Given the description of an element on the screen output the (x, y) to click on. 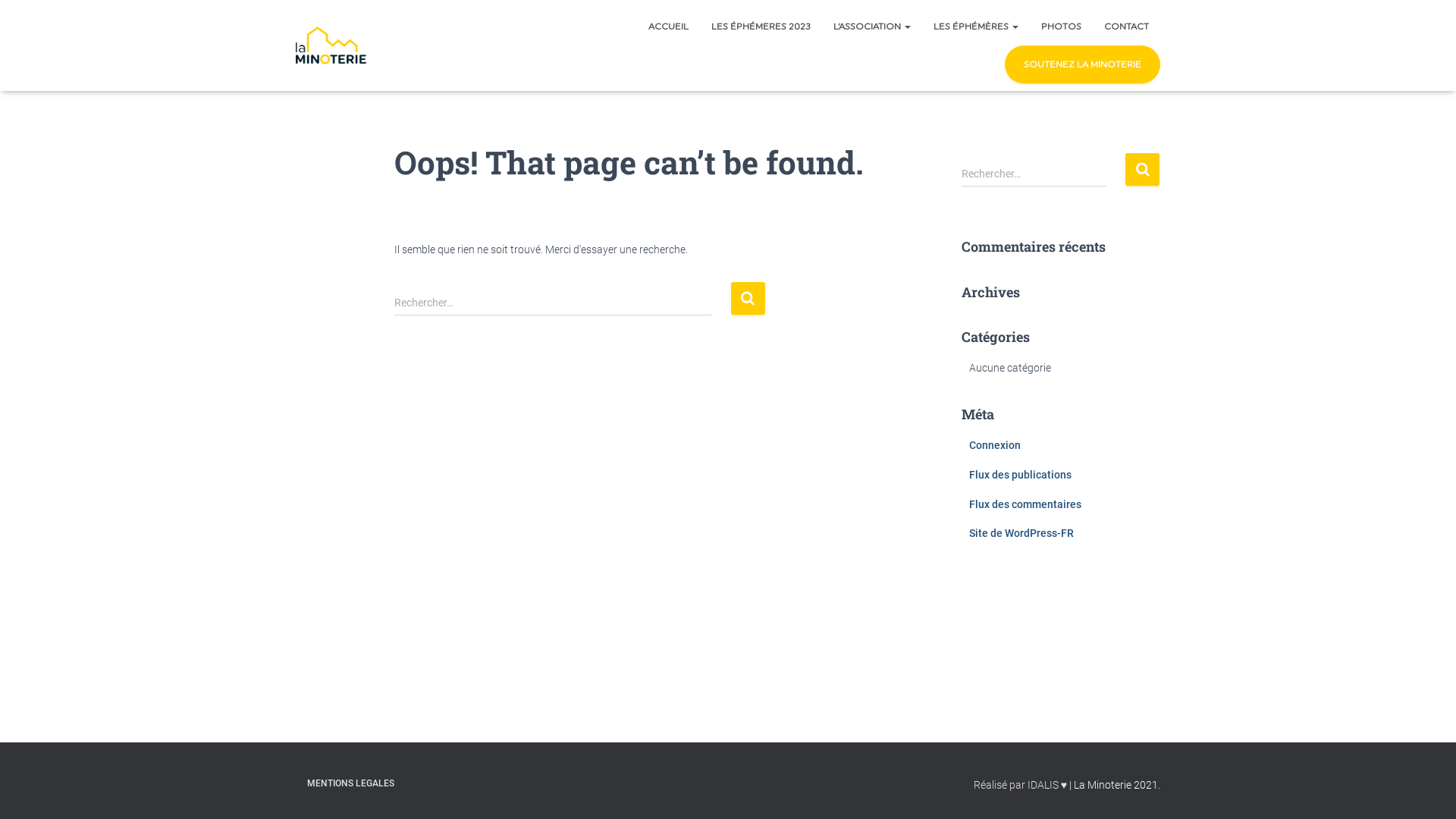
Flux des publications Element type: text (1020, 474)
Rechercher Element type: text (748, 298)
CONTACT Element type: text (1126, 26)
Flux des commentaires Element type: text (1025, 504)
Connexion Element type: text (994, 445)
MENTIONS LEGALES Element type: text (350, 783)
Rechercher Element type: text (1142, 169)
ACCUEIL Element type: text (668, 26)
Site de WordPress-FR Element type: text (1021, 533)
SOUTENEZ LA MINOTERIE Element type: text (1082, 64)
PHOTOS Element type: text (1060, 26)
